Given the description of an element on the screen output the (x, y) to click on. 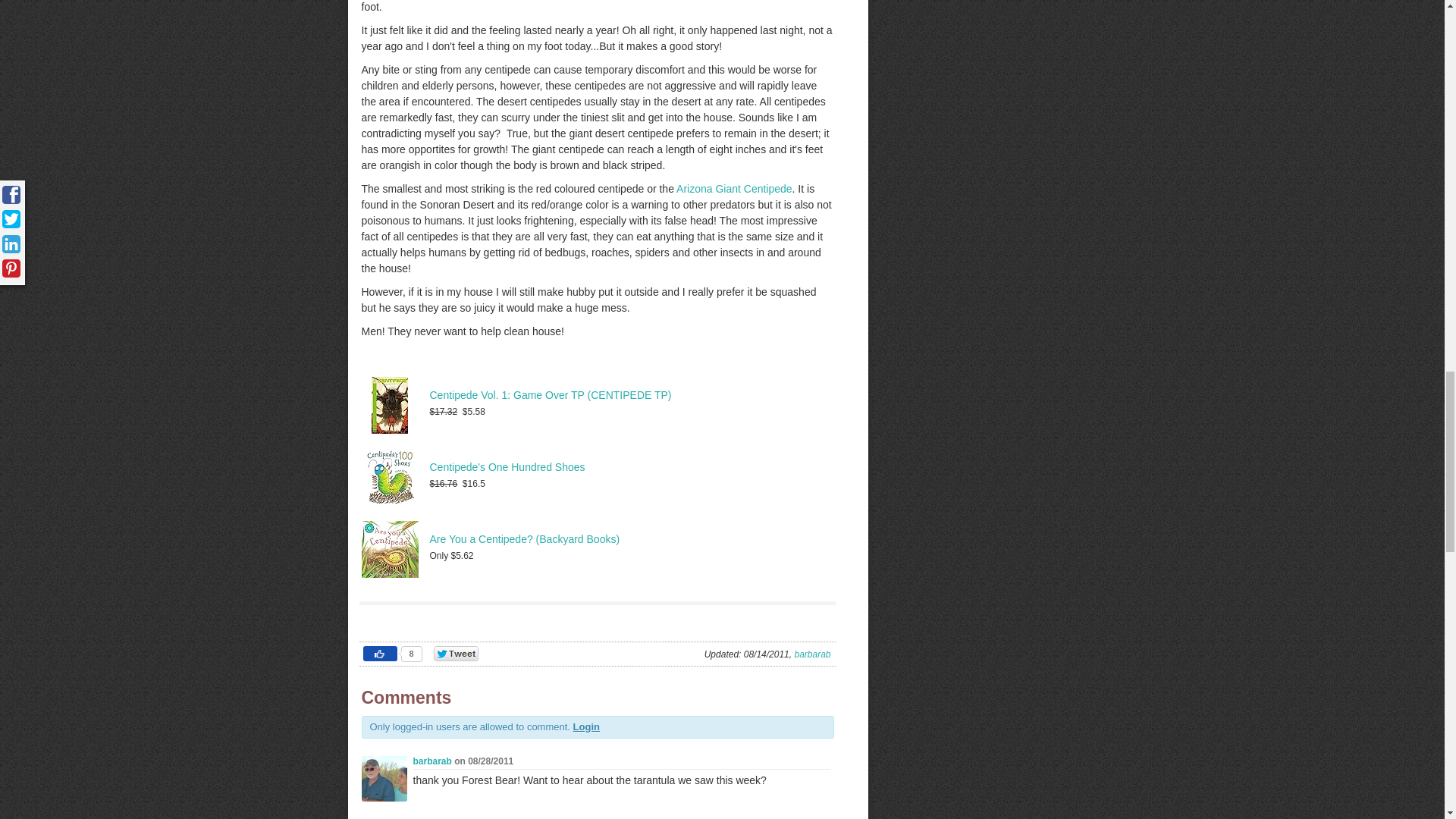
barbarab (811, 654)
Centipede's One Hundred Shoes (507, 467)
Arizona Giant Centipede (733, 188)
barbarab (431, 760)
Login (586, 726)
